Given the description of an element on the screen output the (x, y) to click on. 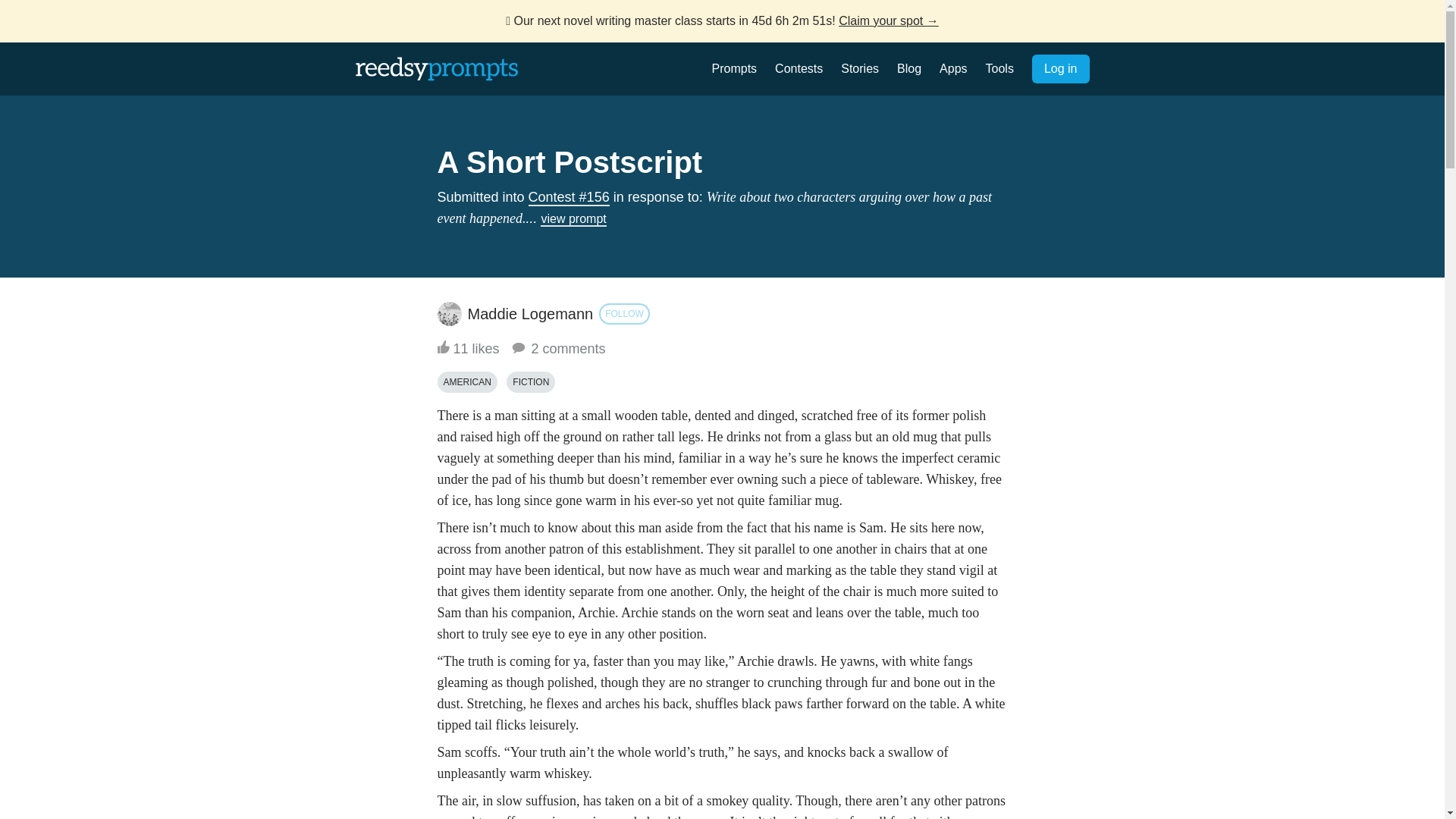
Prompts (734, 68)
Log in (1060, 68)
Tools (999, 68)
Stories (860, 68)
Apps (952, 68)
Contests (798, 68)
Blog (908, 68)
2 comments (557, 348)
